Given the description of an element on the screen output the (x, y) to click on. 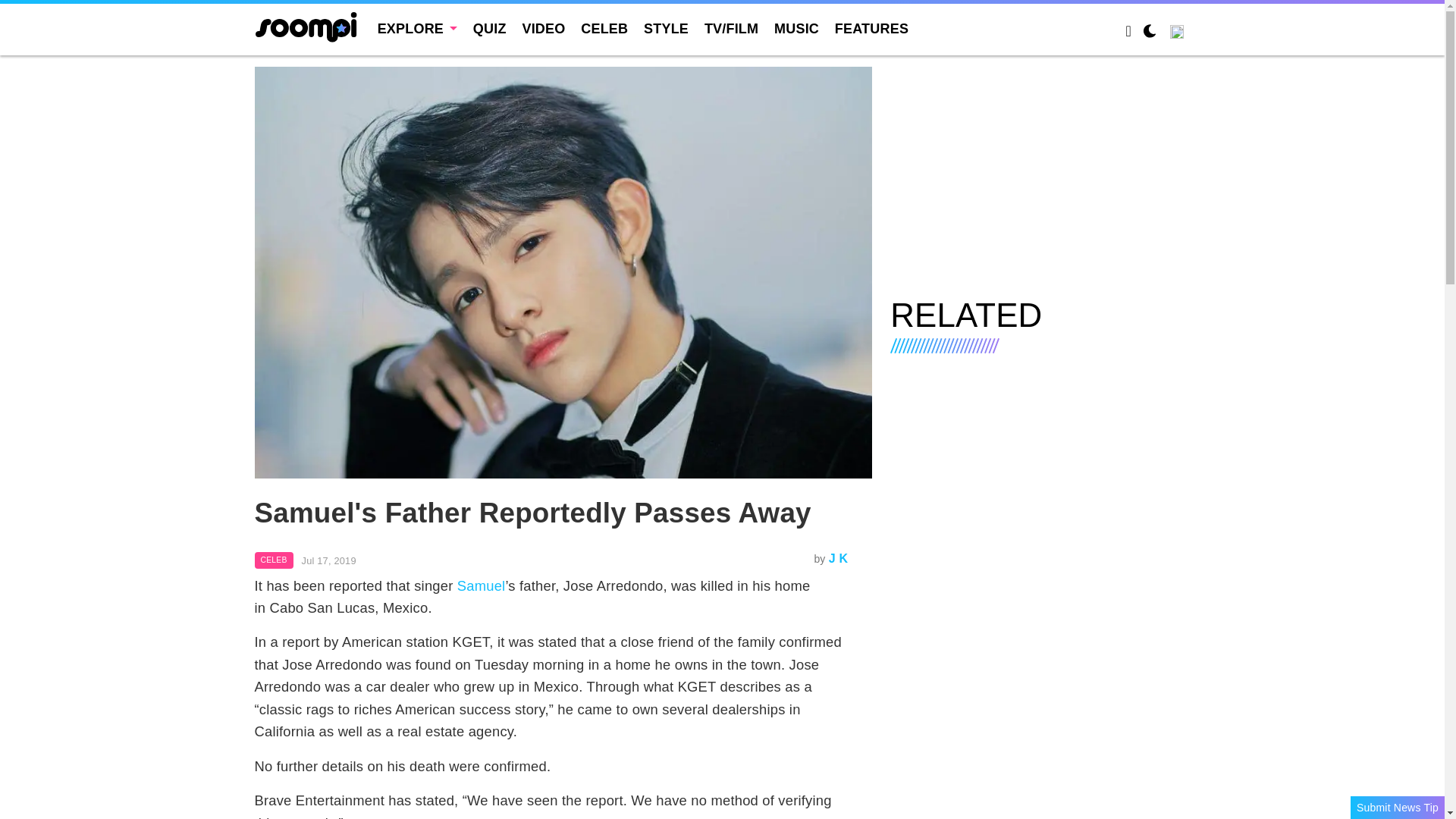
J K (838, 558)
QUIZ (489, 28)
Articles by J K (838, 558)
Samuel (481, 585)
EXPLORE (417, 28)
CELEB (603, 28)
MUSIC (796, 28)
VIDEO (542, 28)
STYLE (665, 28)
FEATURES (871, 28)
Night Mode Toggle (1149, 33)
CELEB (274, 560)
Celeb (274, 560)
